Given the description of an element on the screen output the (x, y) to click on. 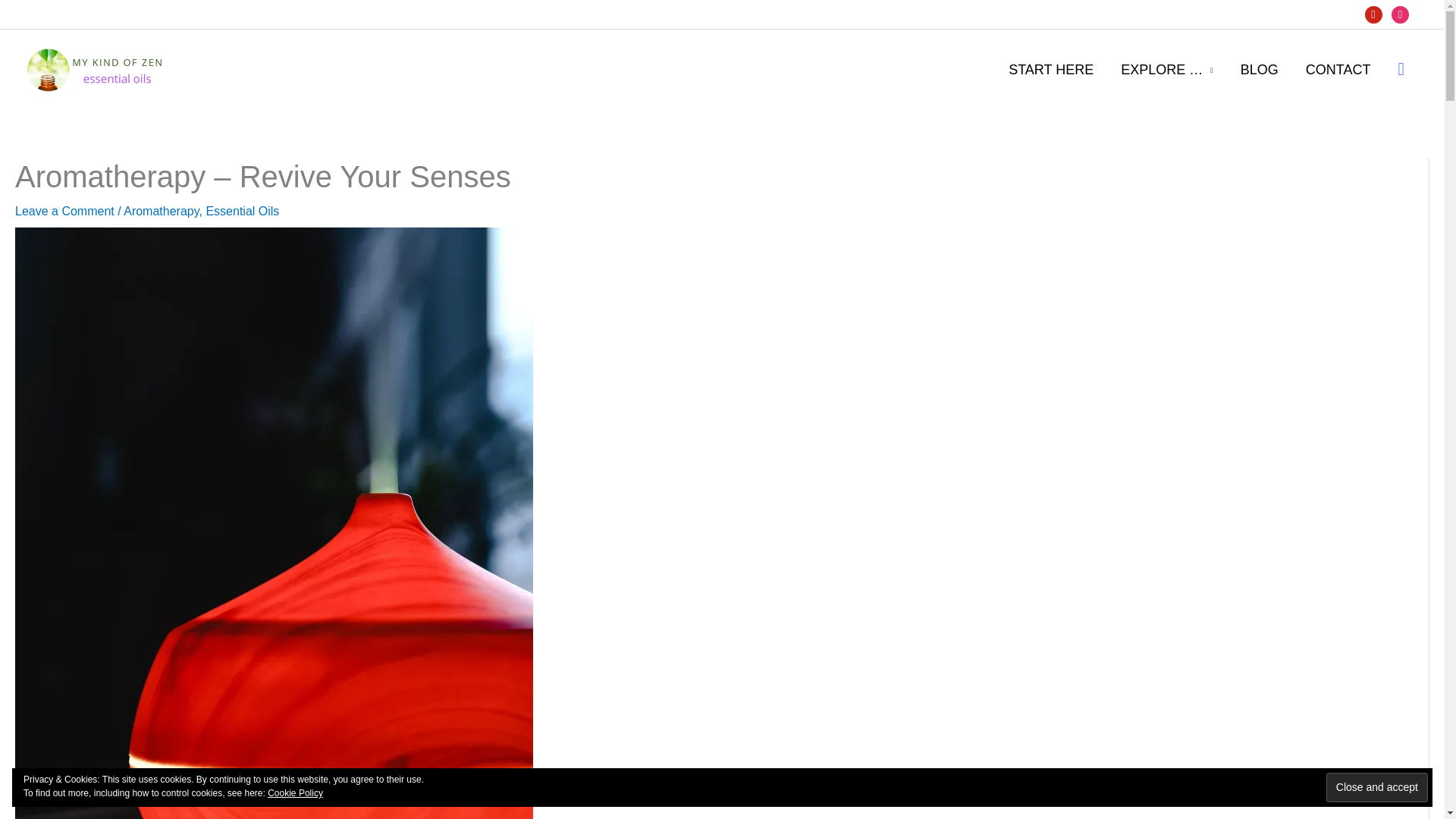
Pinterest (1373, 13)
CONTACT (1338, 69)
Aromatherapy (160, 210)
Close and accept (1377, 787)
instagram (1400, 13)
BLOG (1259, 69)
START HERE (1050, 69)
Essential Oils (242, 210)
Leave a Comment (64, 210)
Instagram (1400, 13)
